Given the description of an element on the screen output the (x, y) to click on. 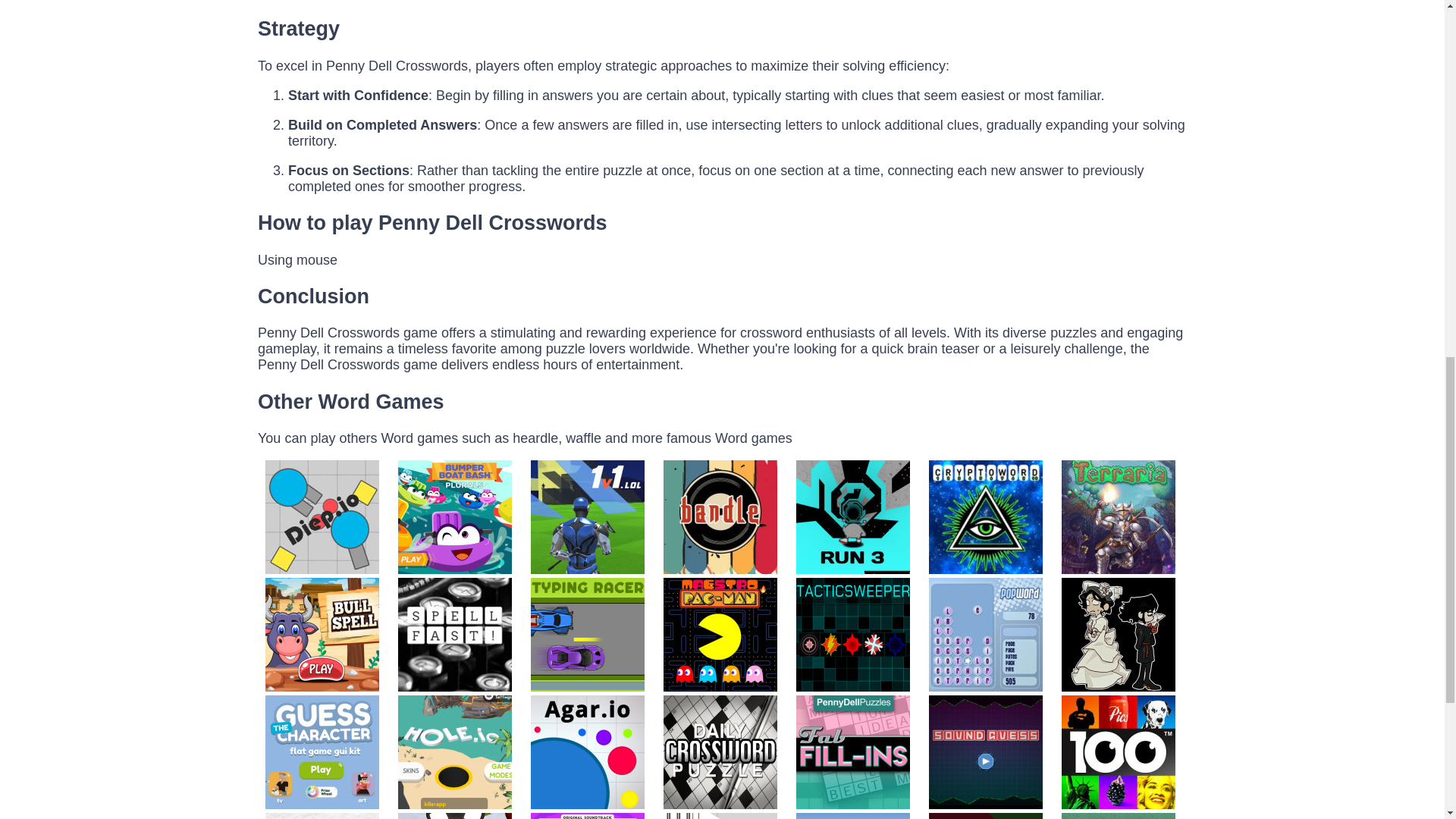
PacMan (718, 686)
Married in Red (1116, 686)
Tacticsweeper (851, 686)
Run 3 (851, 569)
1v1.LOL (586, 569)
Bull Spell Typing (321, 686)
Guess the Character (321, 804)
Daily Crossword Puzzle (718, 804)
Agar io (586, 804)
Bumper Boat Bash (453, 569)
